Given the description of an element on the screen output the (x, y) to click on. 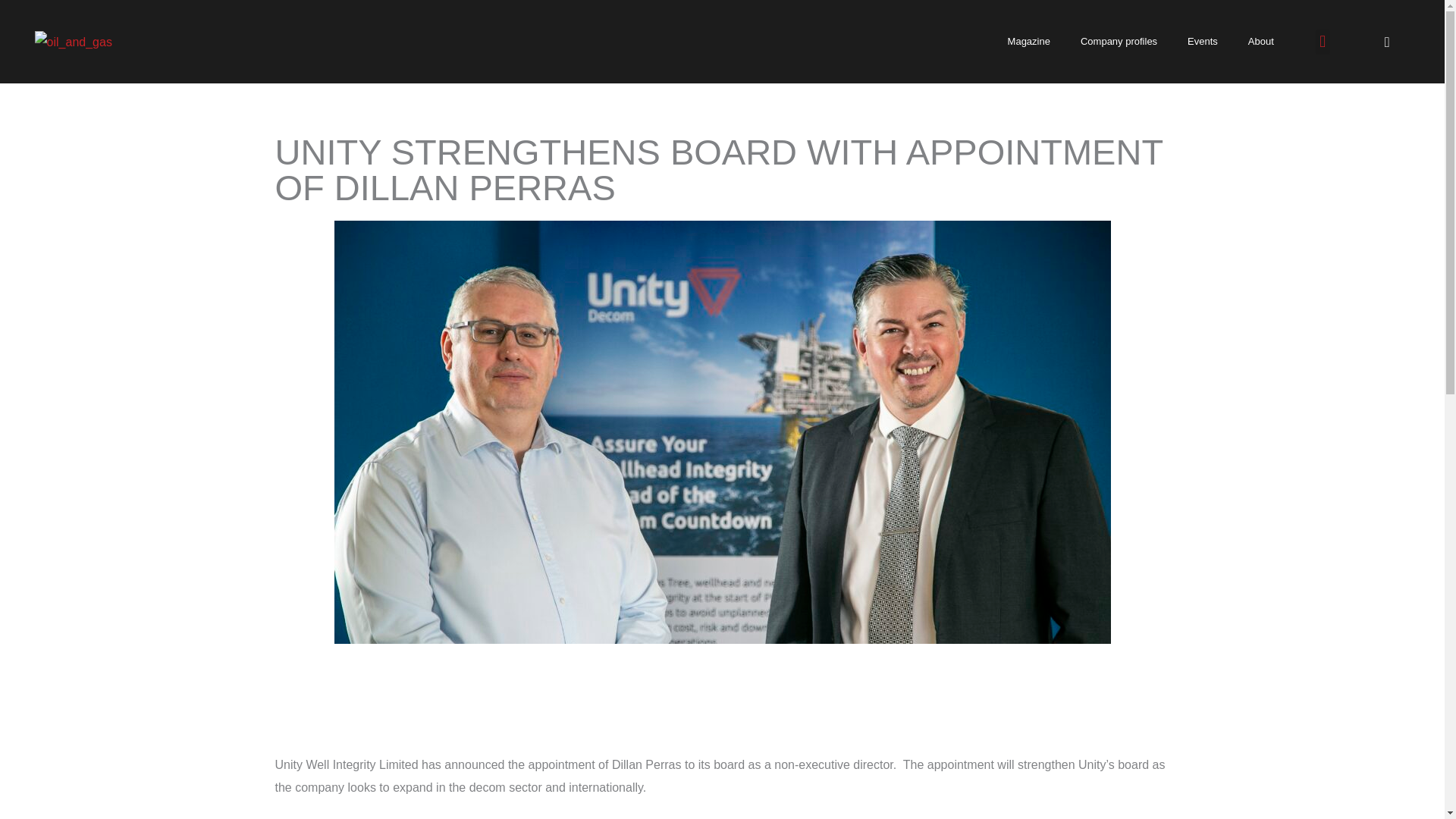
Company profiles (1118, 41)
About (1260, 41)
Events (1202, 41)
Magazine (1028, 41)
